Given the description of an element on the screen output the (x, y) to click on. 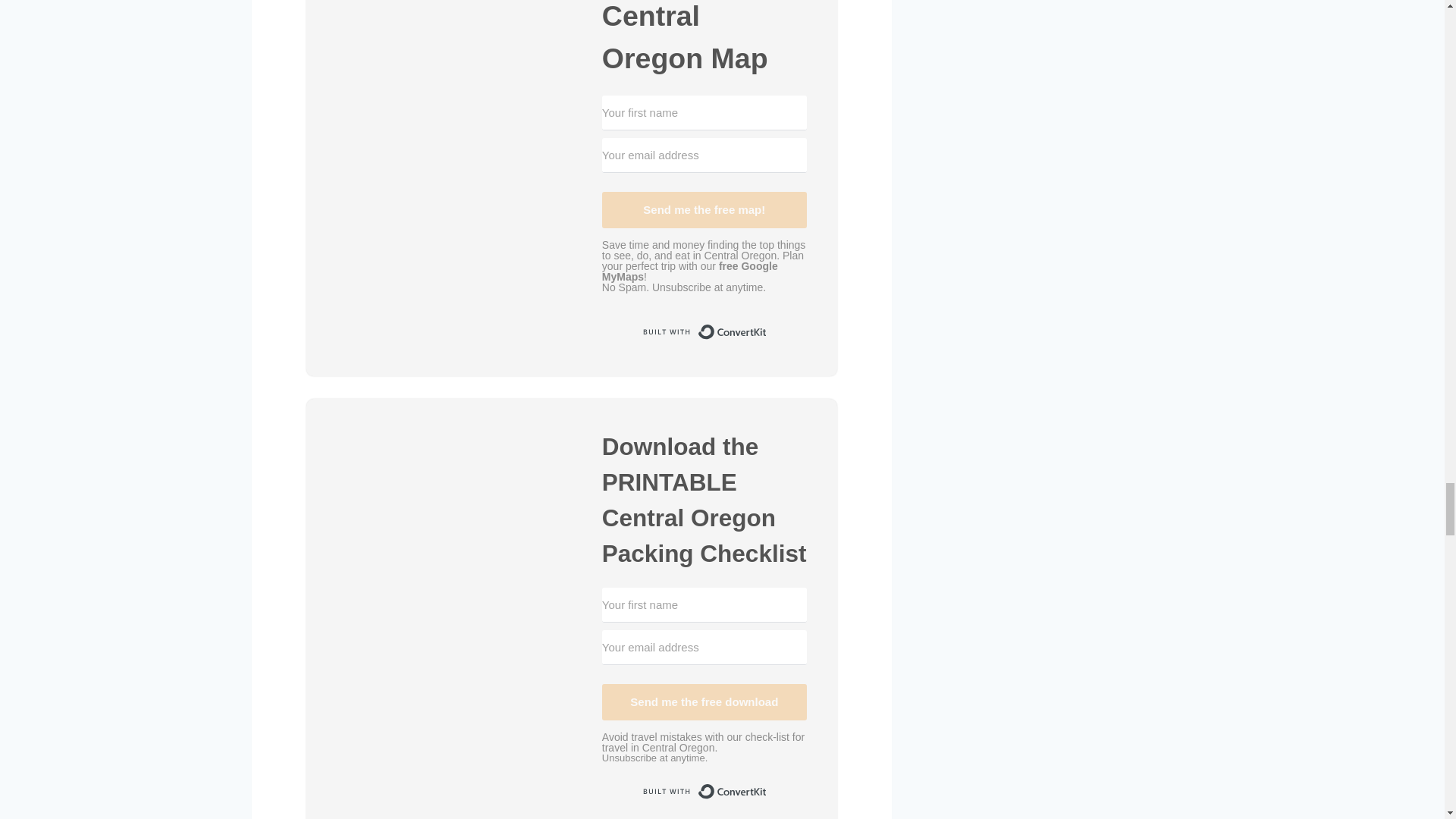
Send me the free map! (704, 209)
Send me the free download (704, 701)
Built with ConvertKit (704, 331)
Built with ConvertKit (704, 791)
